Given the description of an element on the screen output the (x, y) to click on. 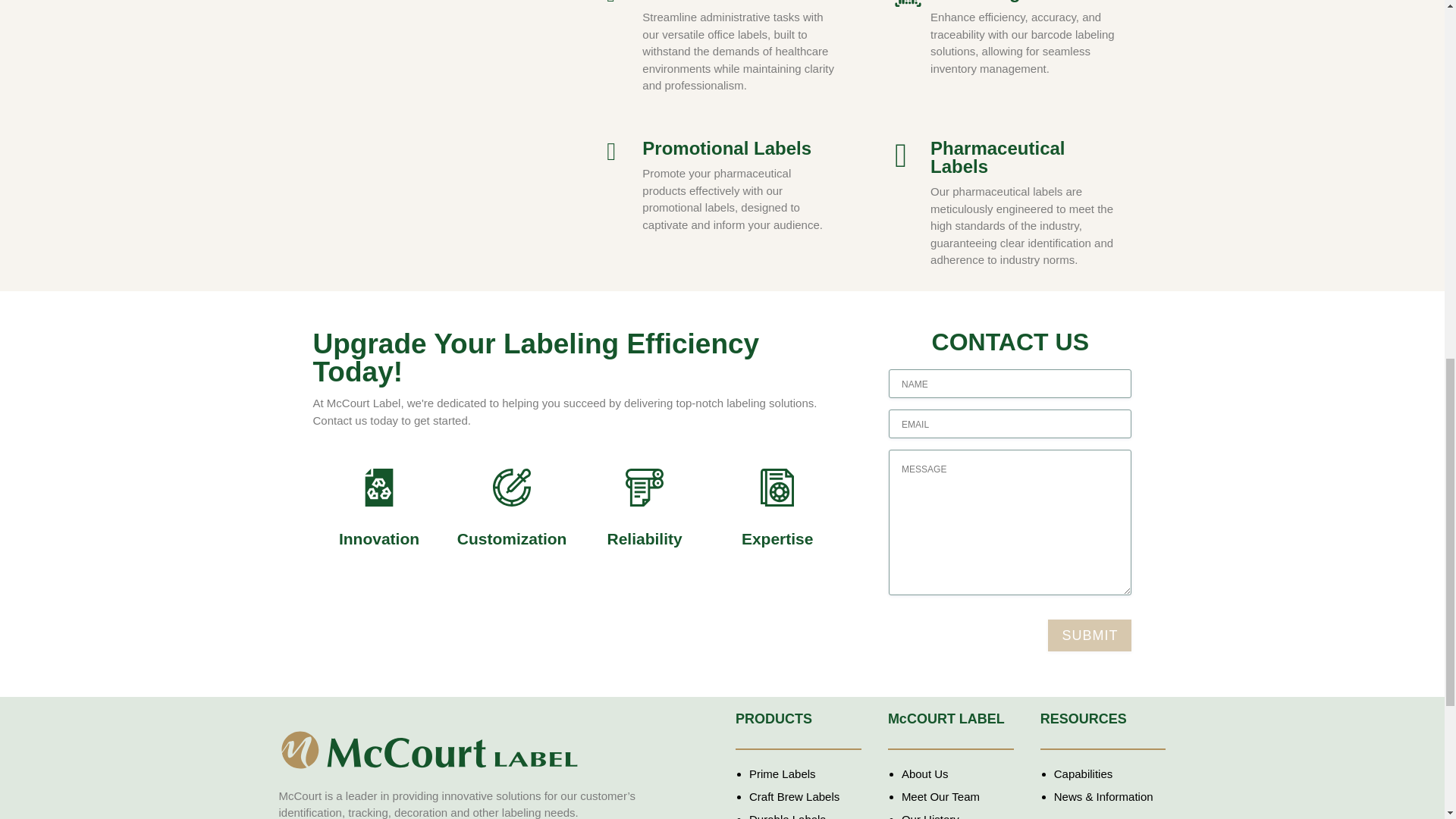
Submit (1089, 634)
